Given the description of an element on the screen output the (x, y) to click on. 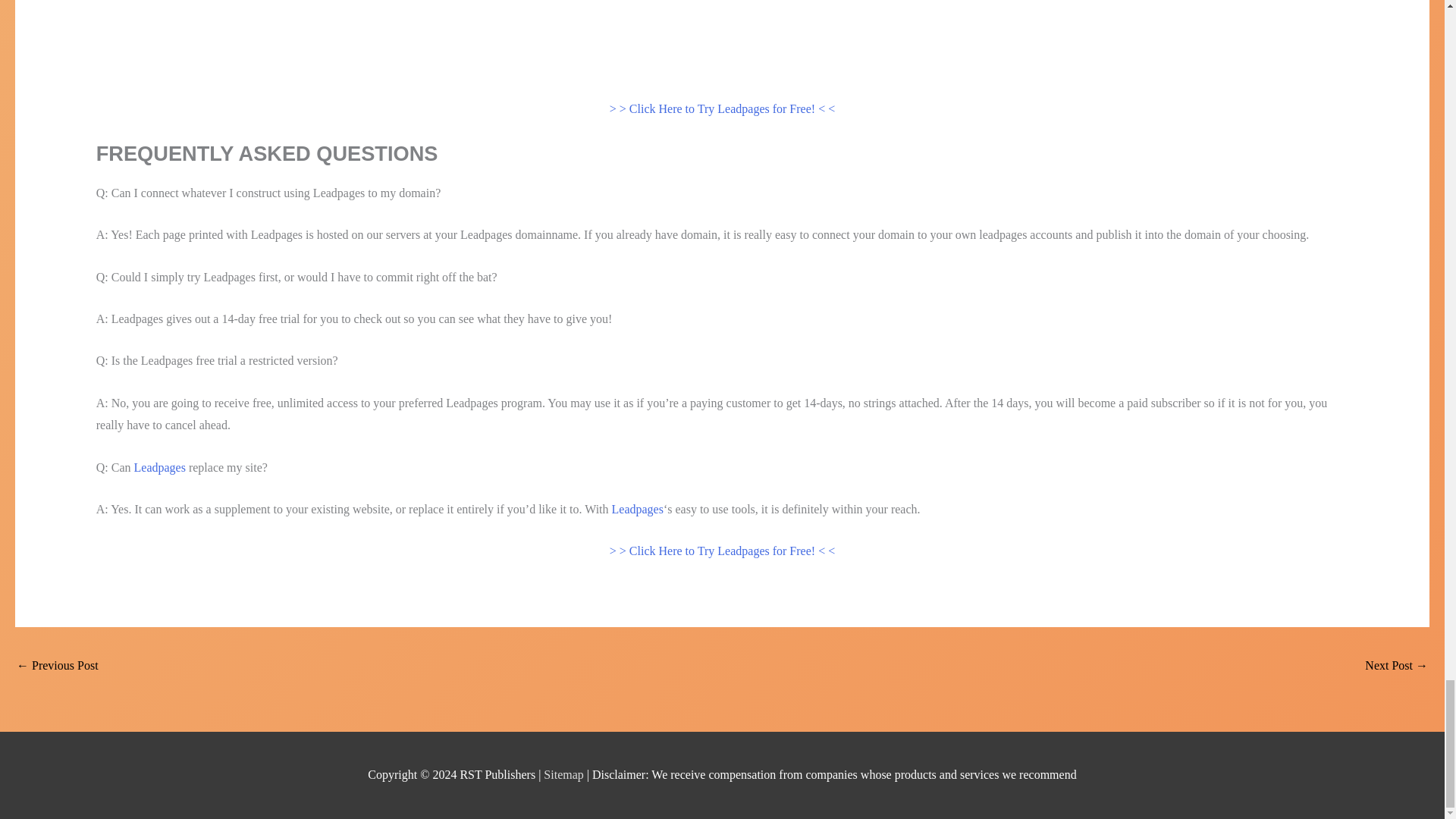
Can I Embed Soundclound on Leadpages (1396, 666)
Leadpages Minnepolis (57, 666)
Leadpages (637, 508)
Sitemap (564, 774)
Leadpages (158, 467)
